Given the description of an element on the screen output the (x, y) to click on. 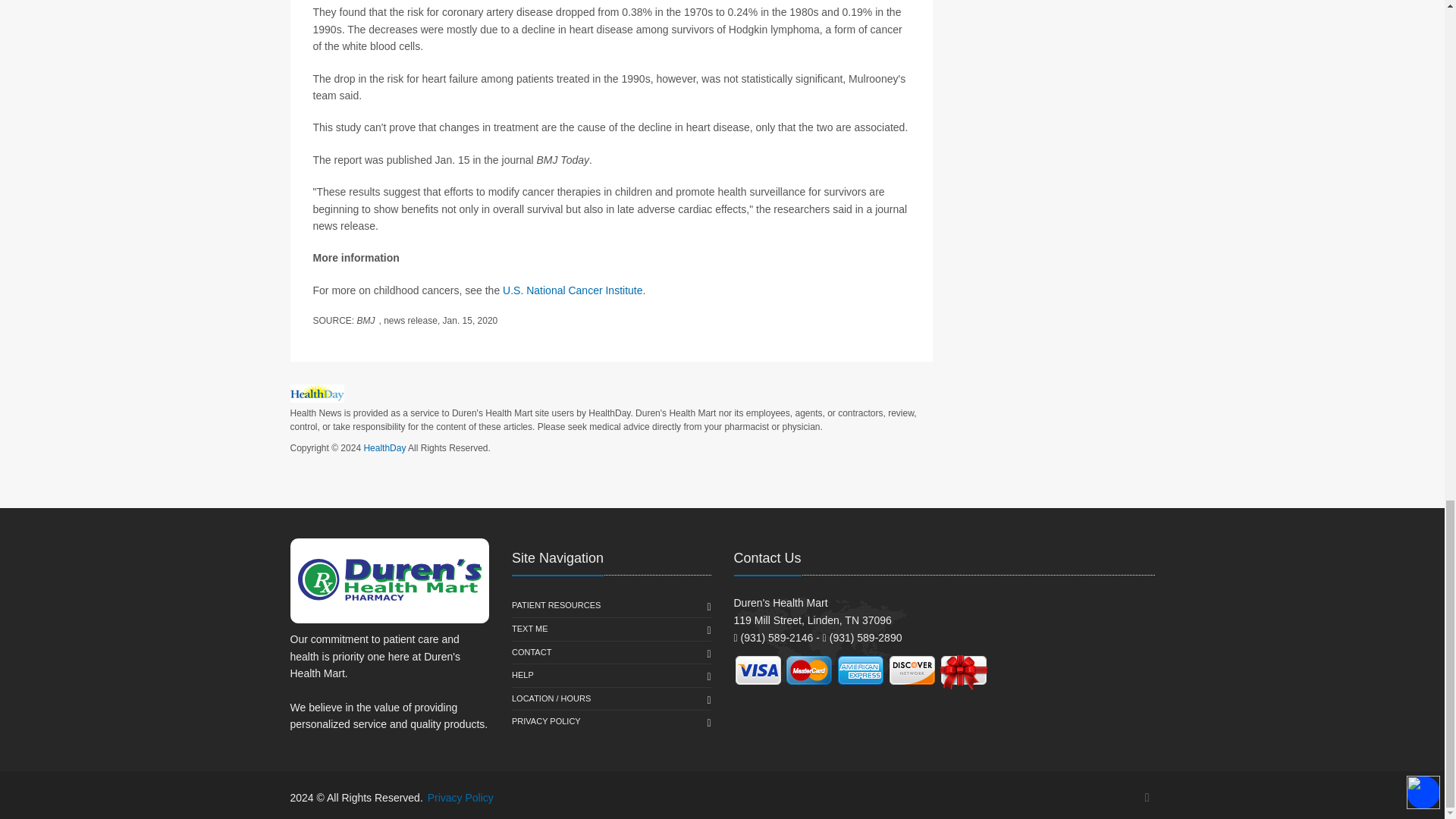
HealthDay (384, 448)
U.S. National Cancer Institute (572, 290)
